Given the description of an element on the screen output the (x, y) to click on. 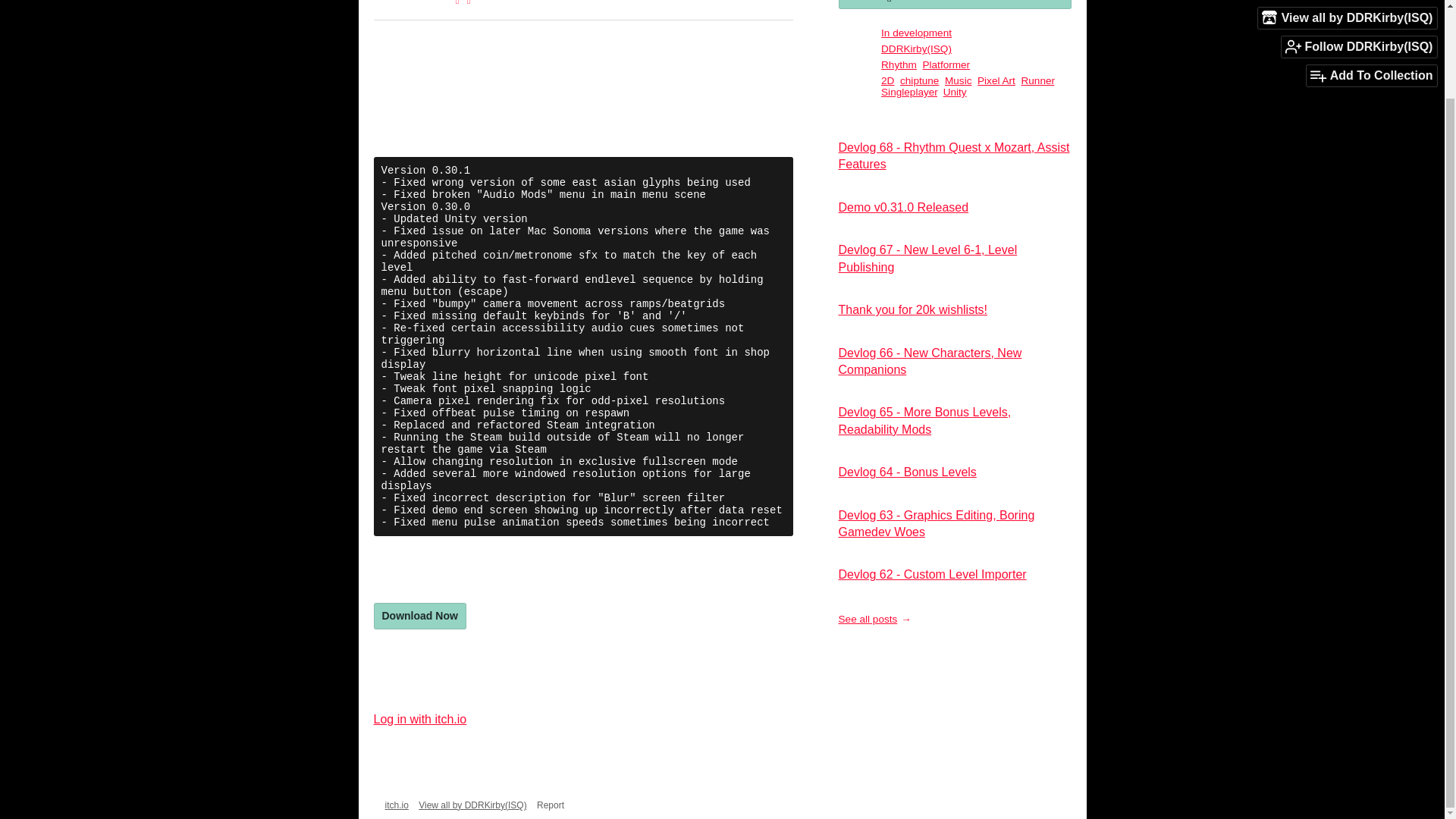
Pixel Art (995, 80)
Devlog 67 - New Level 6-1, Level Publishing (927, 257)
Report (550, 805)
Unity (954, 91)
Rhythm (898, 64)
Runner (1037, 80)
Devlog 63 - Graphics Editing, Boring Gamedev Woes (936, 523)
Demo v0.31.0 Released (903, 206)
Devlog 68 - Rhythm Quest x Mozart, Assist Features (954, 155)
Download Now (418, 615)
In development (916, 32)
2D (886, 80)
Add Game To Collection (954, 4)
Singleplayer (908, 91)
Devlog 66 - New Characters, New Companions (930, 360)
